Given the description of an element on the screen output the (x, y) to click on. 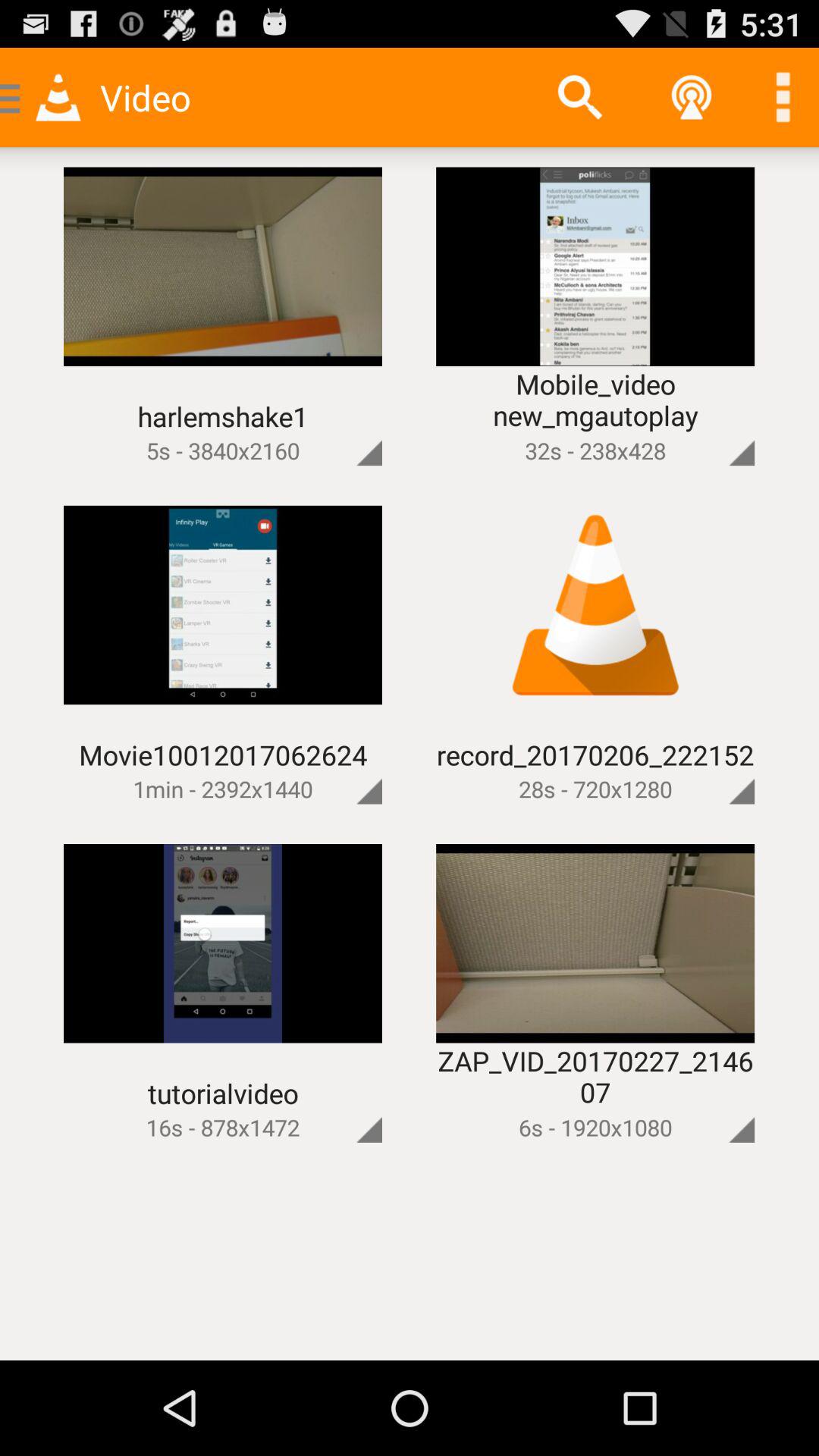
select a new option (783, 97)
